Given the description of an element on the screen output the (x, y) to click on. 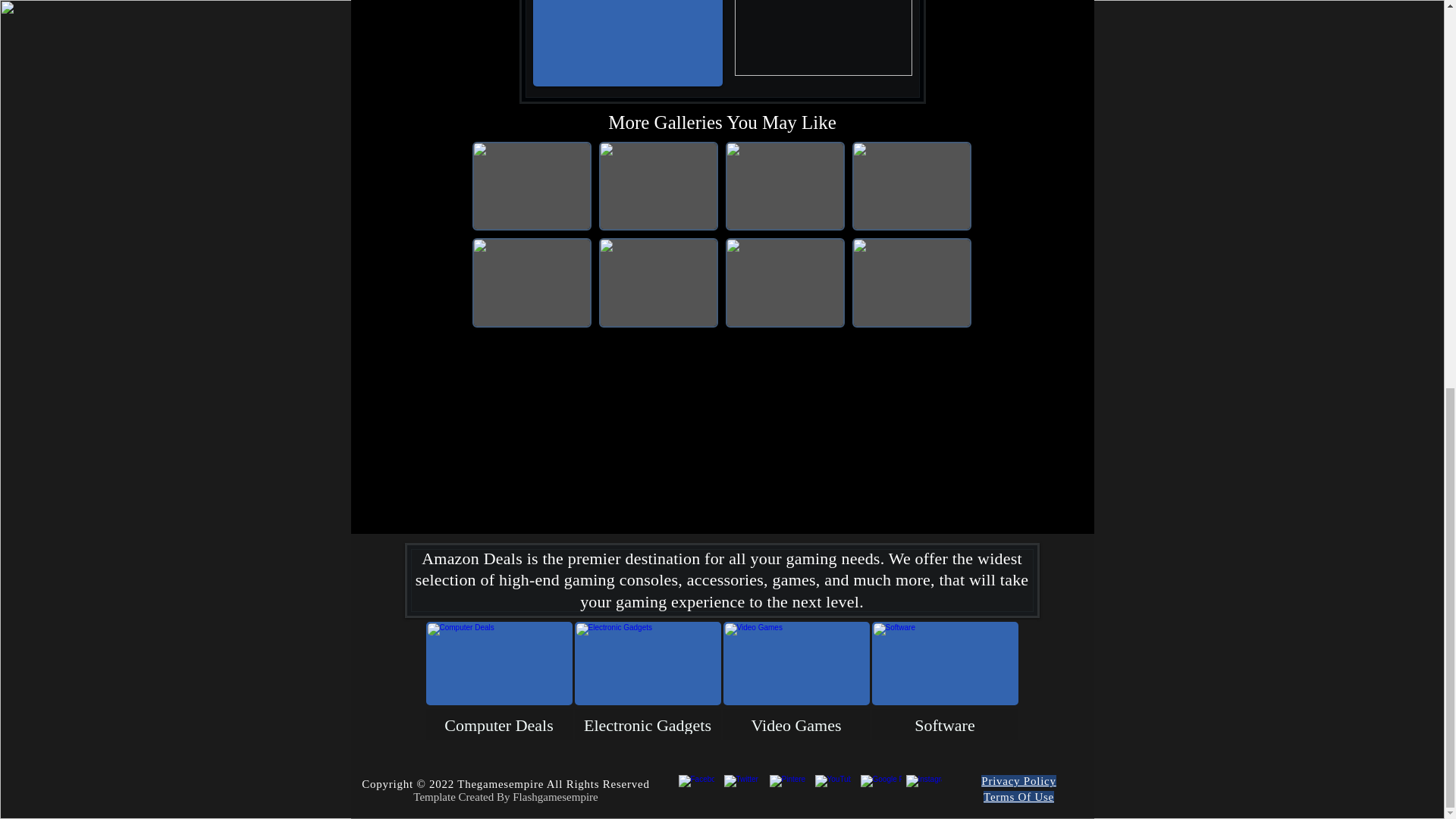
Computer Deals (499, 680)
Software (944, 680)
Video Games (796, 680)
Privacy Policy (1018, 780)
Electronic Gadgets (647, 680)
Terms Of Use (1019, 797)
